Given the description of an element on the screen output the (x, y) to click on. 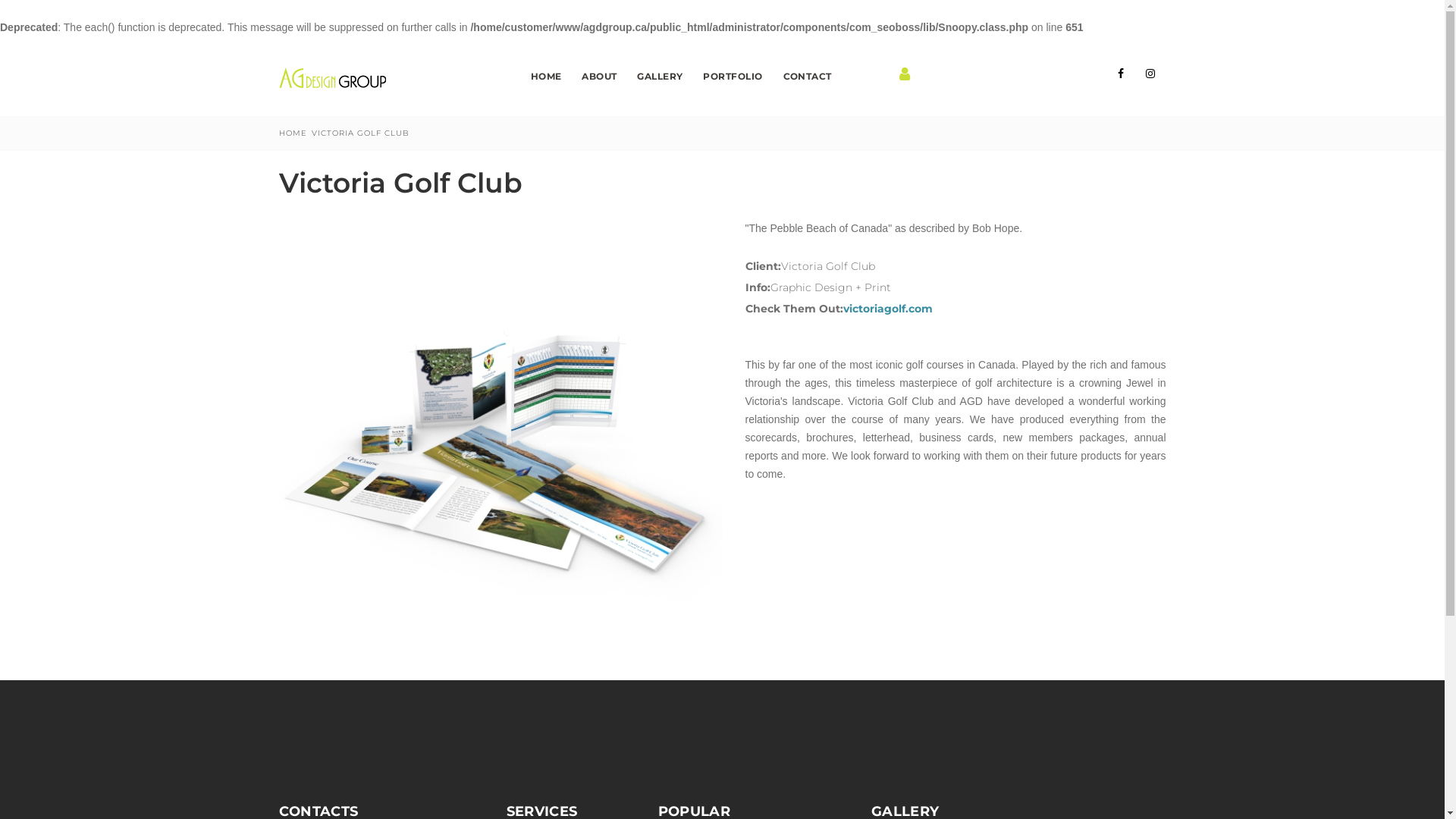
CONTACT Element type: text (806, 77)
PORTFOLIO Element type: text (732, 77)
Instagram Element type: hover (1149, 73)
HOME Element type: text (545, 77)
HOME Element type: text (293, 133)
GALLERY Element type: text (659, 77)
ABOUT Element type: text (598, 77)
agdgroup Element type: hover (332, 77)
Facebook Element type: hover (1120, 73)
victoriagolf.com Element type: text (887, 308)
